Given the description of an element on the screen output the (x, y) to click on. 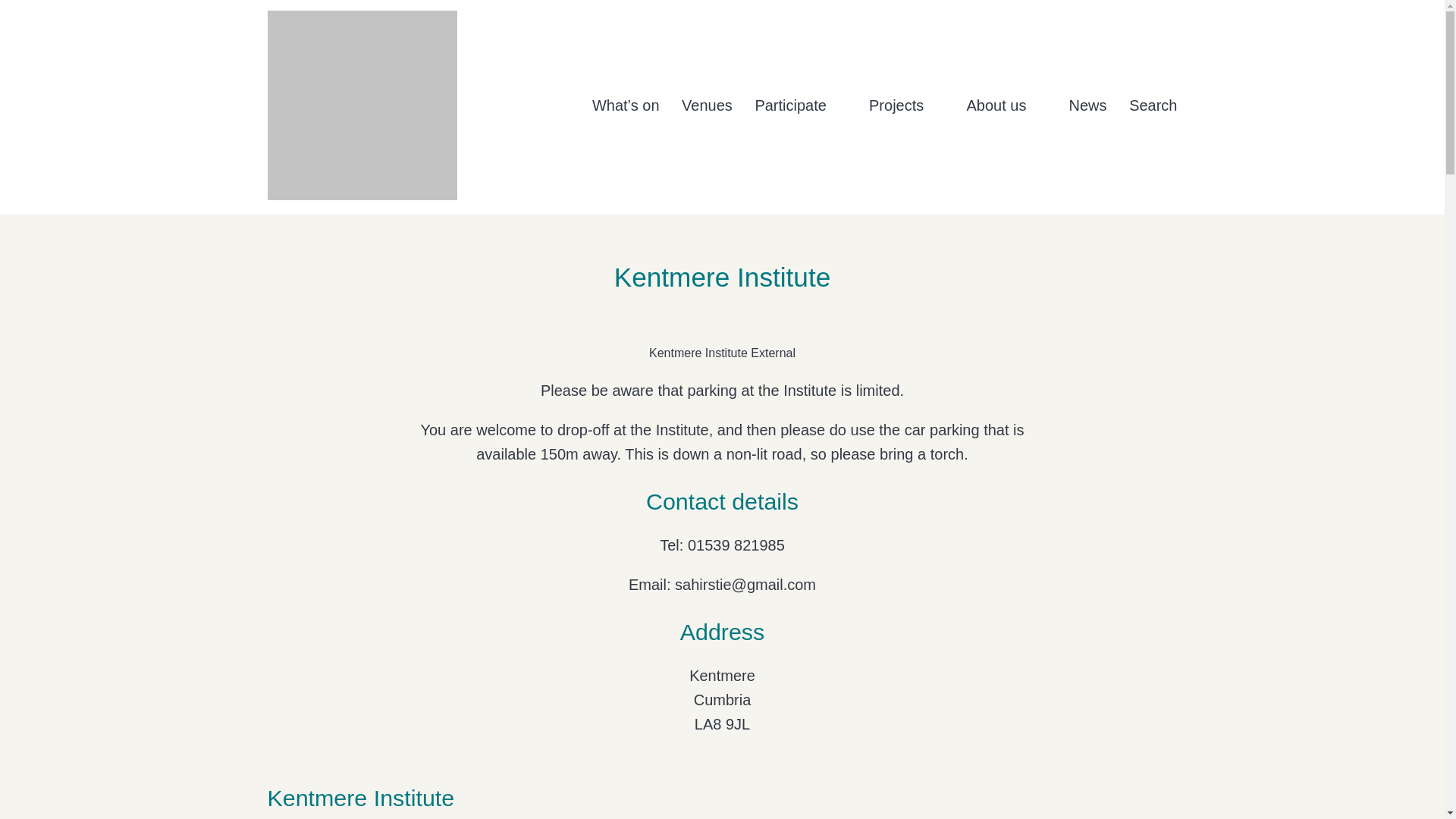
Venues (706, 104)
About us (1006, 104)
Participate (799, 104)
Search (1152, 104)
News (1087, 104)
Projects (906, 104)
